Given the description of an element on the screen output the (x, y) to click on. 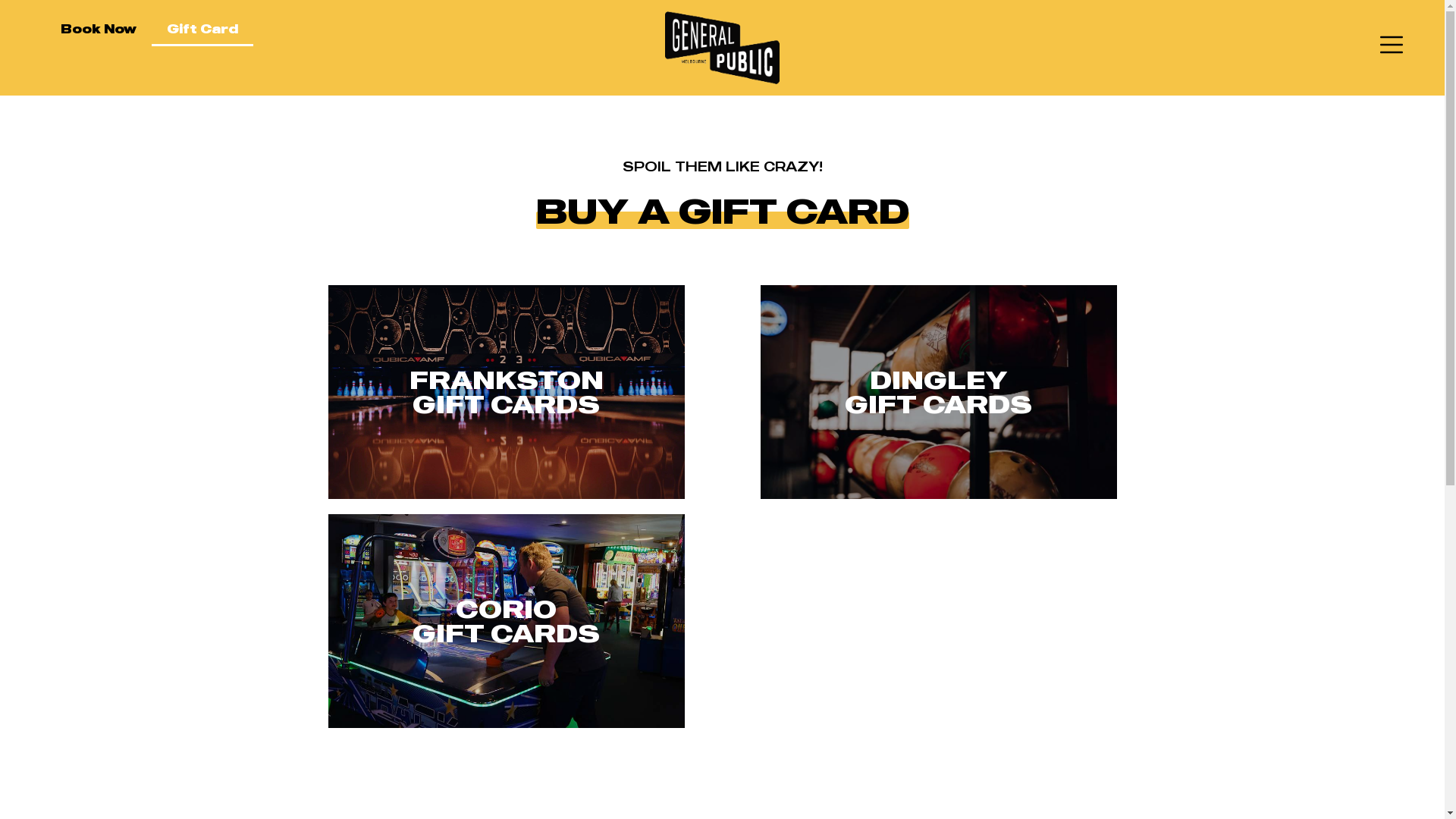
Book Now Element type: text (98, 28)
Gift Card Element type: text (202, 28)
DINGLEY
GIFT CARDS Element type: text (938, 391)
CORIO
GIFT CARDS Element type: text (505, 620)
FRANKSTON
GIFT CARDS Element type: text (506, 391)
